Given the description of an element on the screen output the (x, y) to click on. 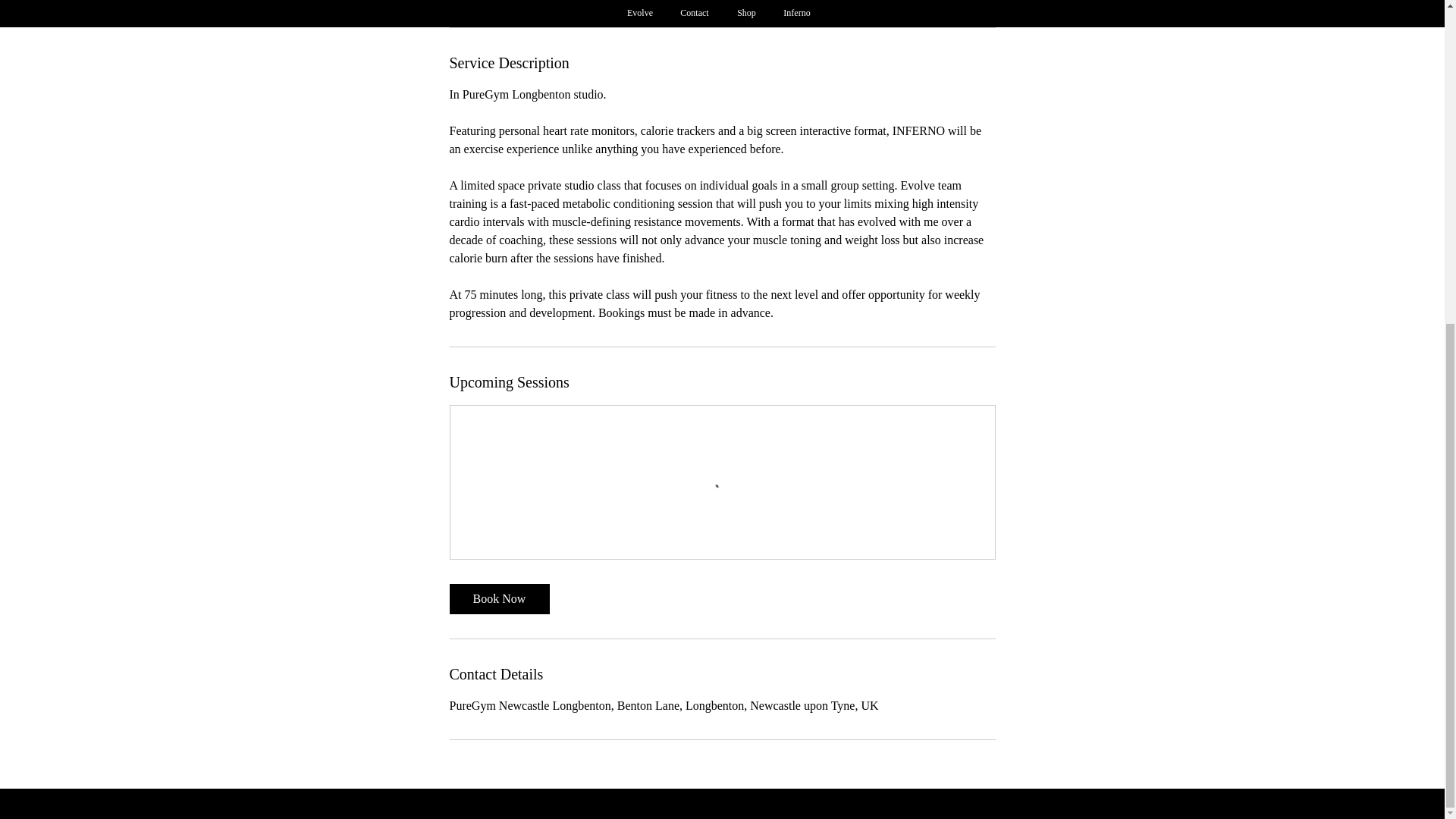
Book Now (498, 598)
Book Now (498, 1)
